Given the description of an element on the screen output the (x, y) to click on. 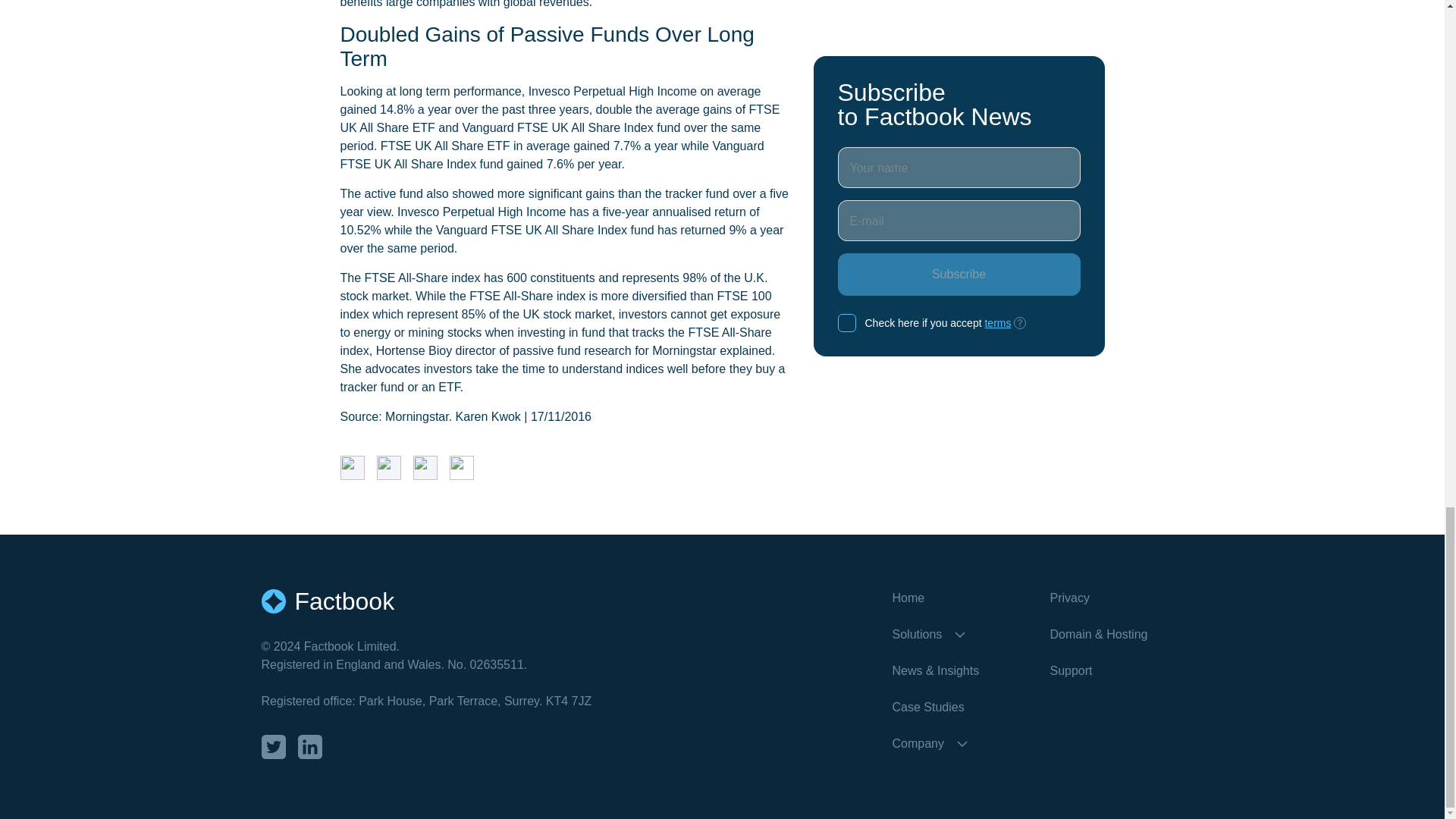
Home (958, 597)
Privacy (1115, 597)
Support (1115, 670)
Case Studies (958, 707)
Factbook (575, 600)
